Given the description of an element on the screen output the (x, y) to click on. 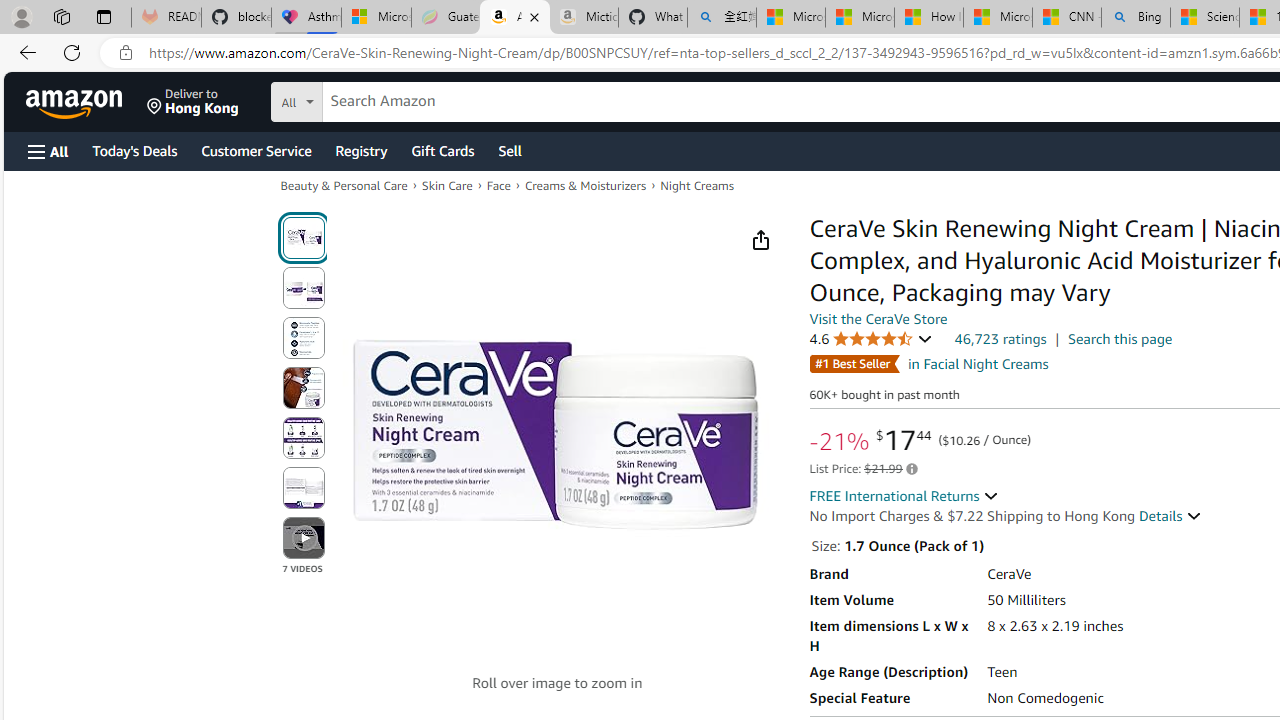
#1 Best Seller in Facial Night Creams (928, 363)
Share (760, 240)
Microsoft-Report a Concern to Bing (375, 17)
Creams & Moisturizers (584, 184)
46,723 ratings (1000, 338)
Night Creams (696, 185)
Learn more about Amazon pricing and savings (910, 469)
Sell (509, 150)
Night Creams (696, 184)
Search this page (1119, 339)
